Given the description of an element on the screen output the (x, y) to click on. 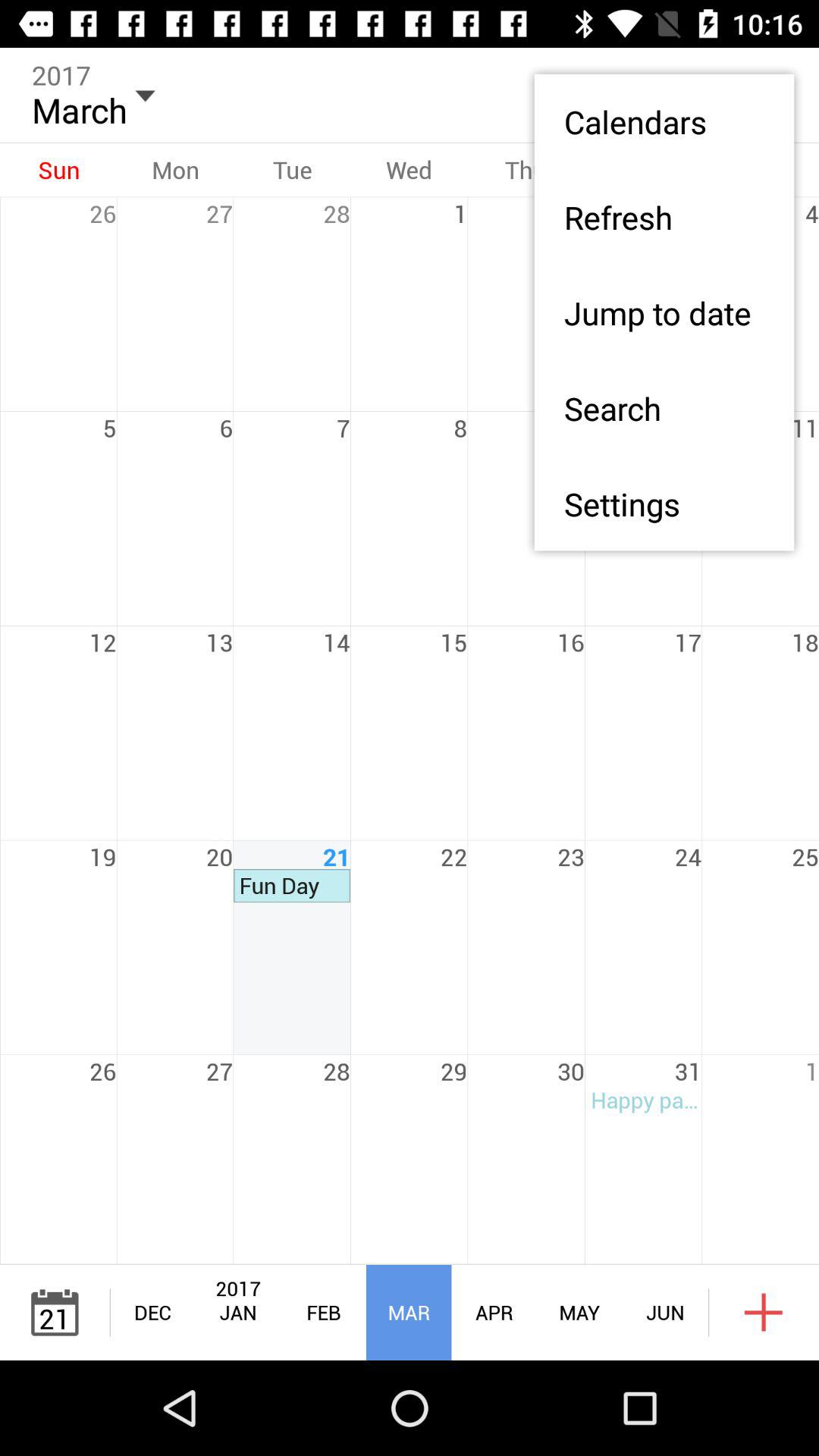
open app below the refresh (664, 312)
